Given the description of an element on the screen output the (x, y) to click on. 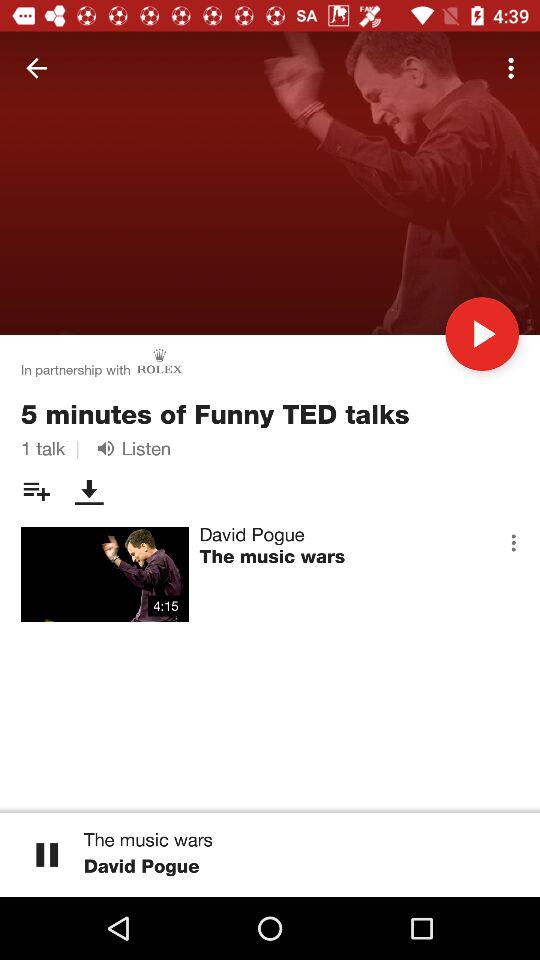
choose the icon to the right of the david pogue item (513, 542)
